Given the description of an element on the screen output the (x, y) to click on. 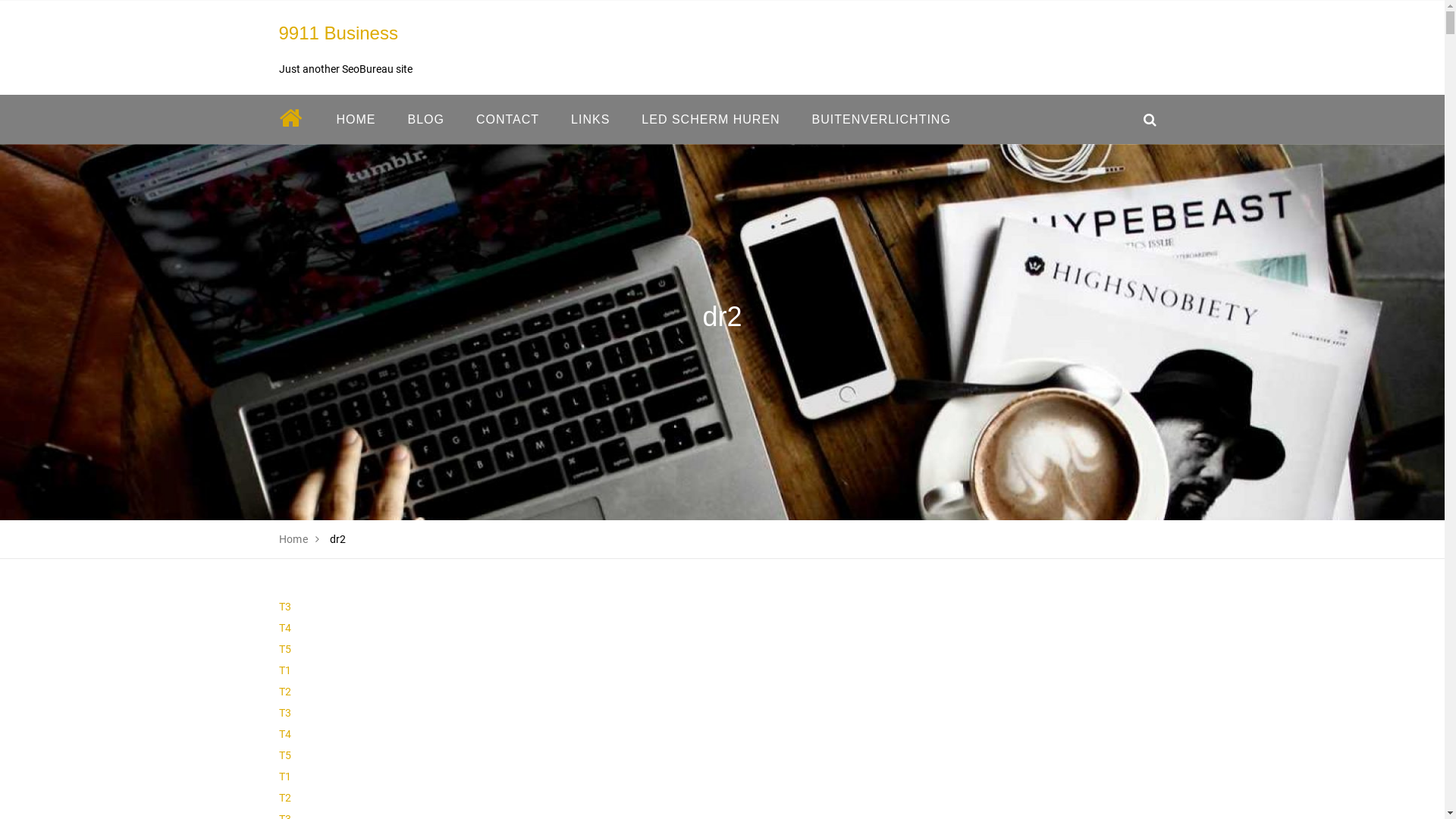
LINKS Element type: text (590, 119)
T4 Element type: text (285, 734)
T1 Element type: text (285, 670)
T5 Element type: text (285, 649)
T3 Element type: text (285, 712)
Home Element type: text (293, 539)
T1 Element type: text (285, 776)
LED SCHERM HUREN Element type: text (710, 119)
T2 Element type: text (285, 797)
BLOG Element type: text (425, 119)
9911 Business Element type: text (338, 32)
CONTACT Element type: text (507, 119)
HOME Element type: text (355, 119)
T3 Element type: text (285, 606)
T4 Element type: text (285, 627)
BUITENVERLICHTING Element type: text (881, 119)
T2 Element type: text (285, 691)
T5 Element type: text (285, 755)
search_icon Element type: hover (1148, 119)
